Given the description of an element on the screen output the (x, y) to click on. 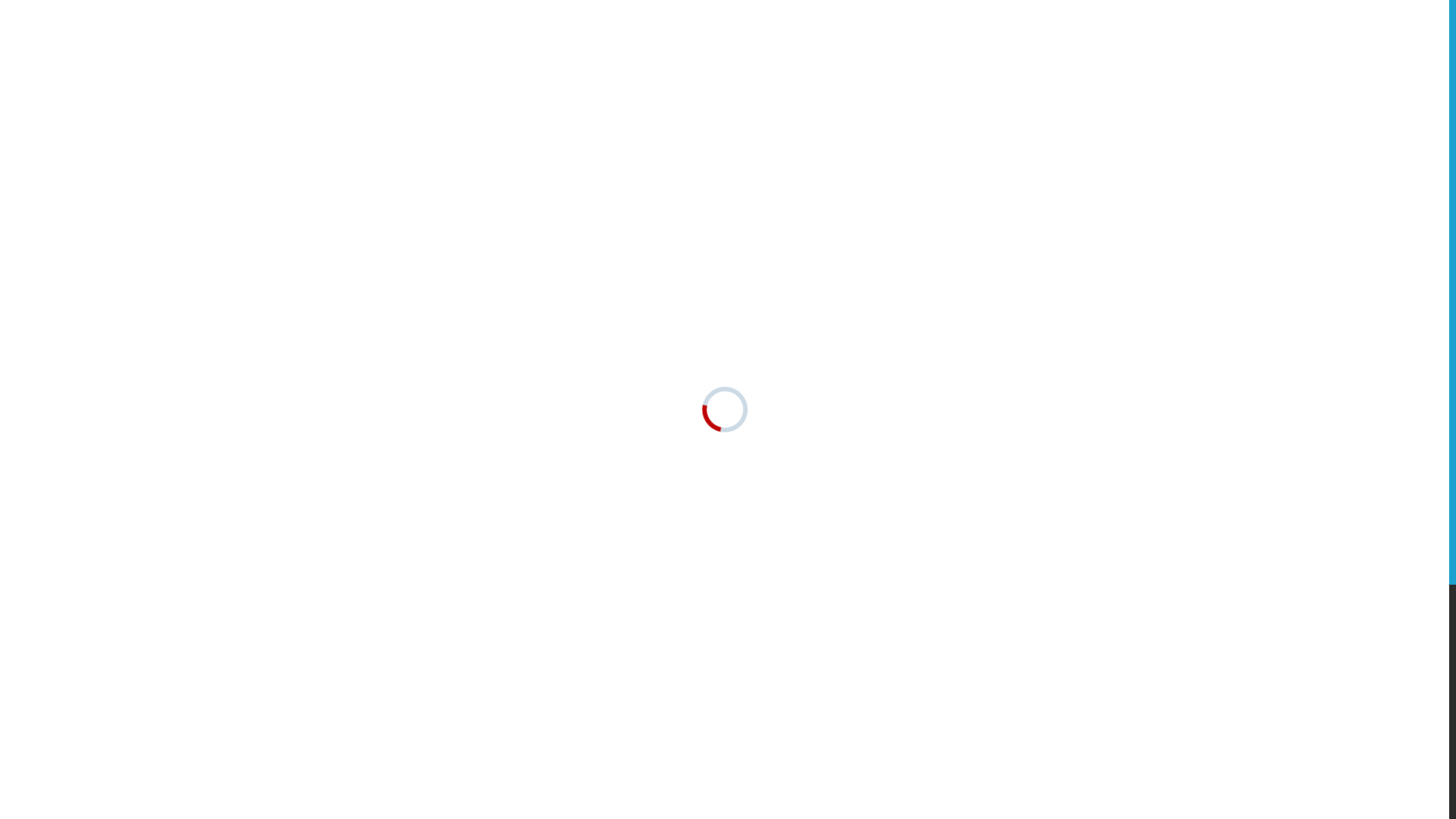
+375 17 544-10-00 Element type: text (1100, 77)
+375 29 675-62-00 Element type: text (1101, 98)
+375 17 544-11-11 Element type: text (1100, 56)
